Given the description of an element on the screen output the (x, y) to click on. 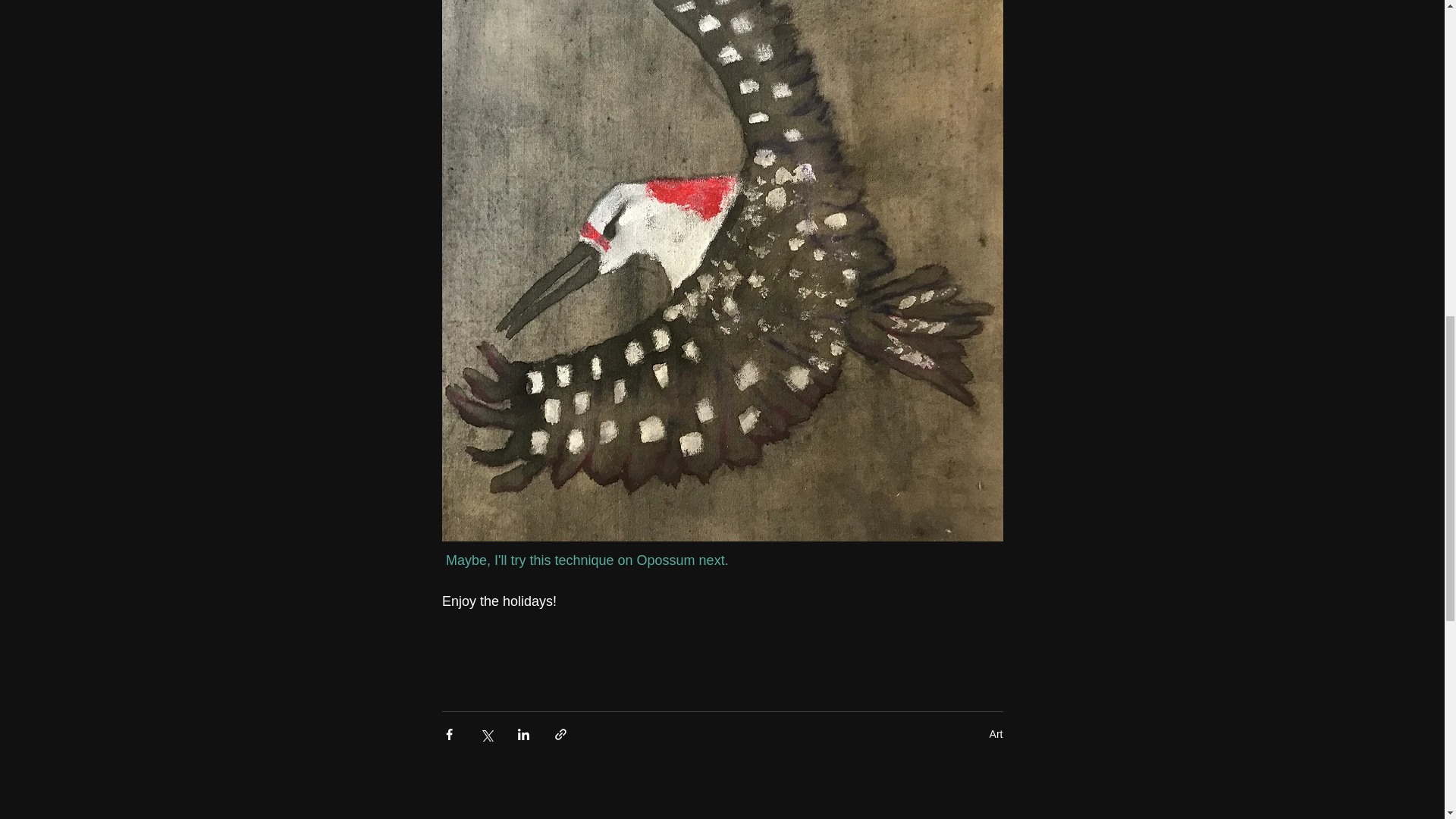
 Maybe, I'll try this technique on Opossum next.   (588, 560)
Art (996, 734)
